Given the description of an element on the screen output the (x, y) to click on. 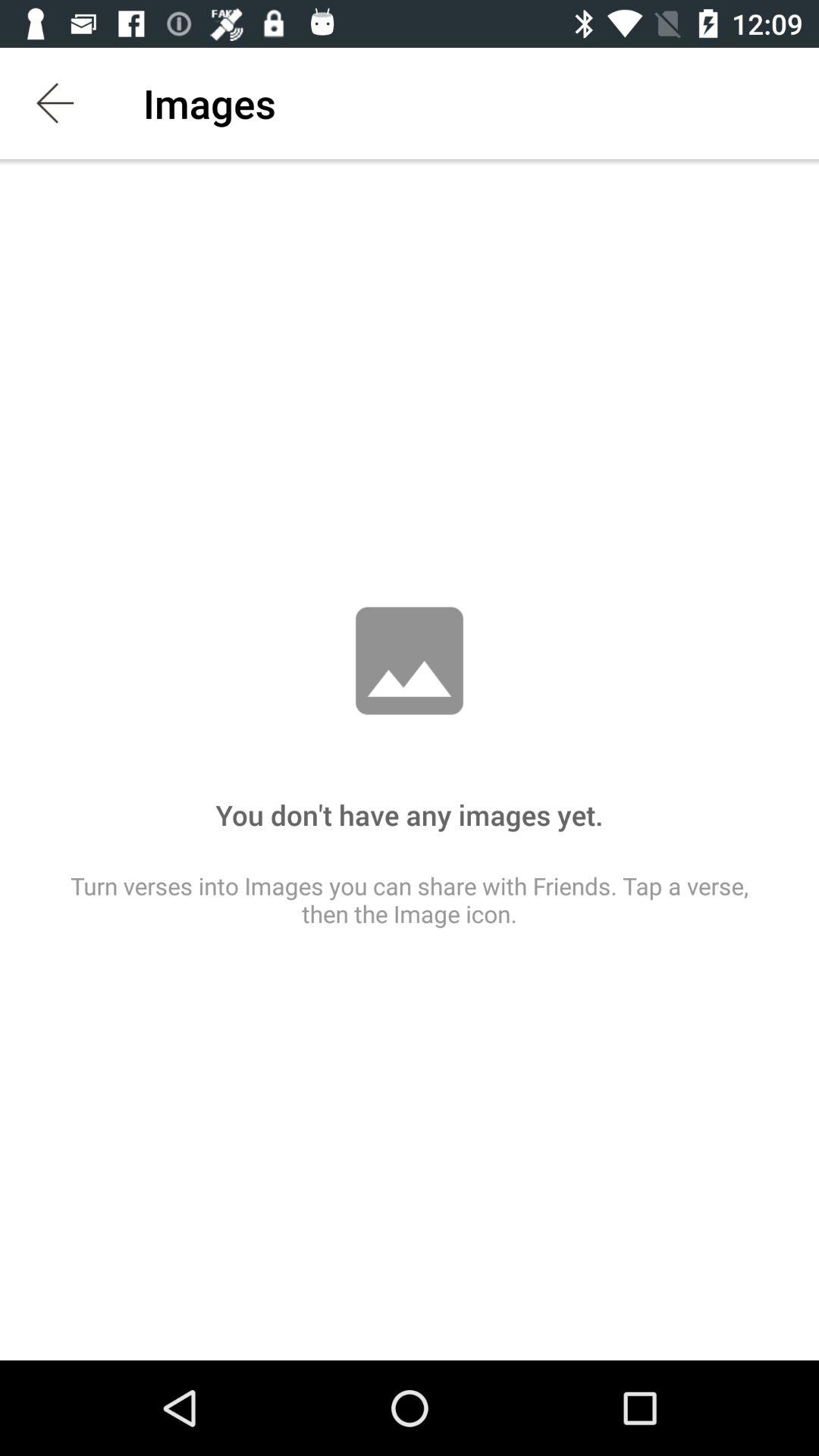
open the app to the left of the images item (55, 103)
